Given the description of an element on the screen output the (x, y) to click on. 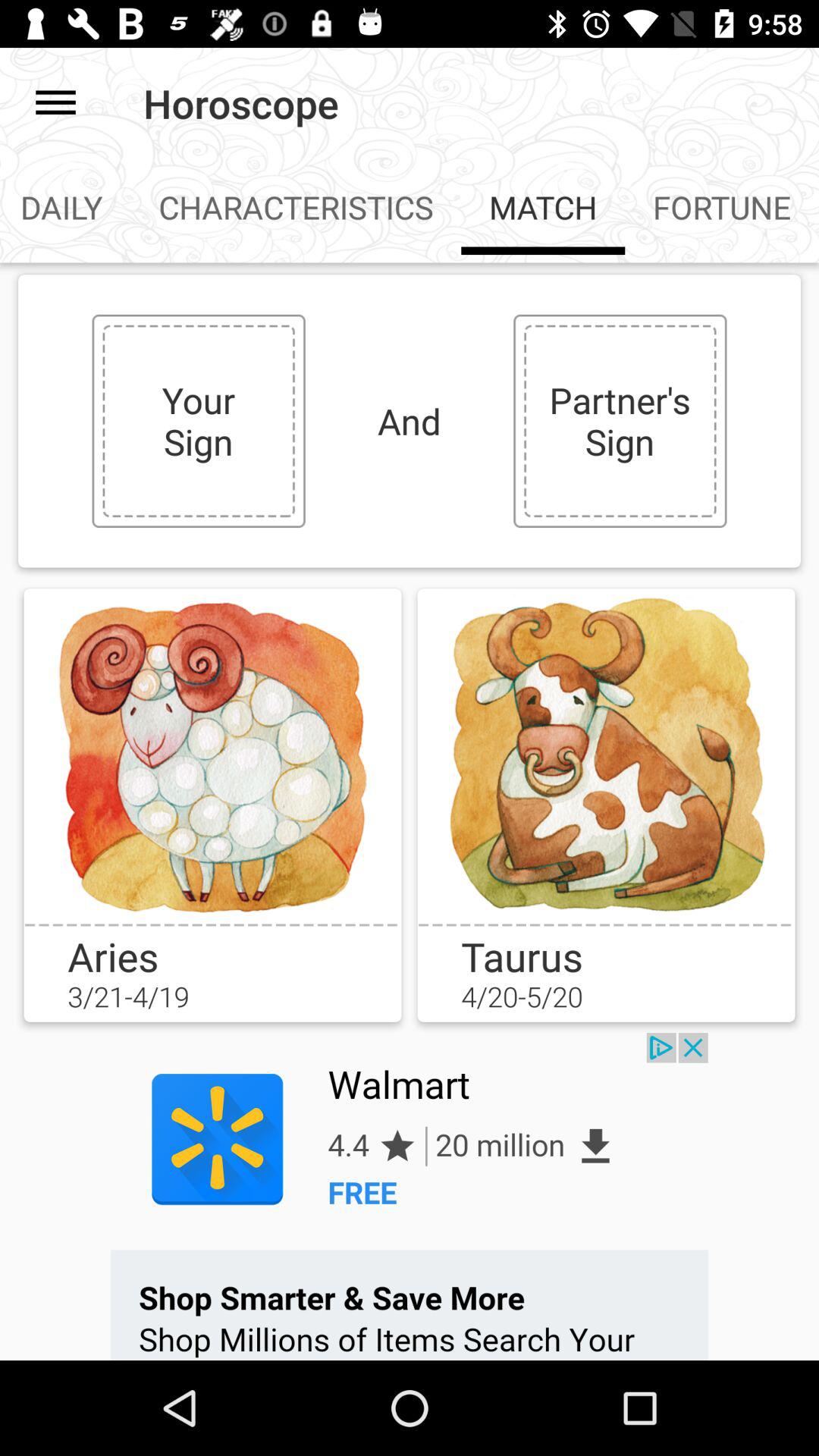
advertising (409, 1196)
